Given the description of an element on the screen output the (x, y) to click on. 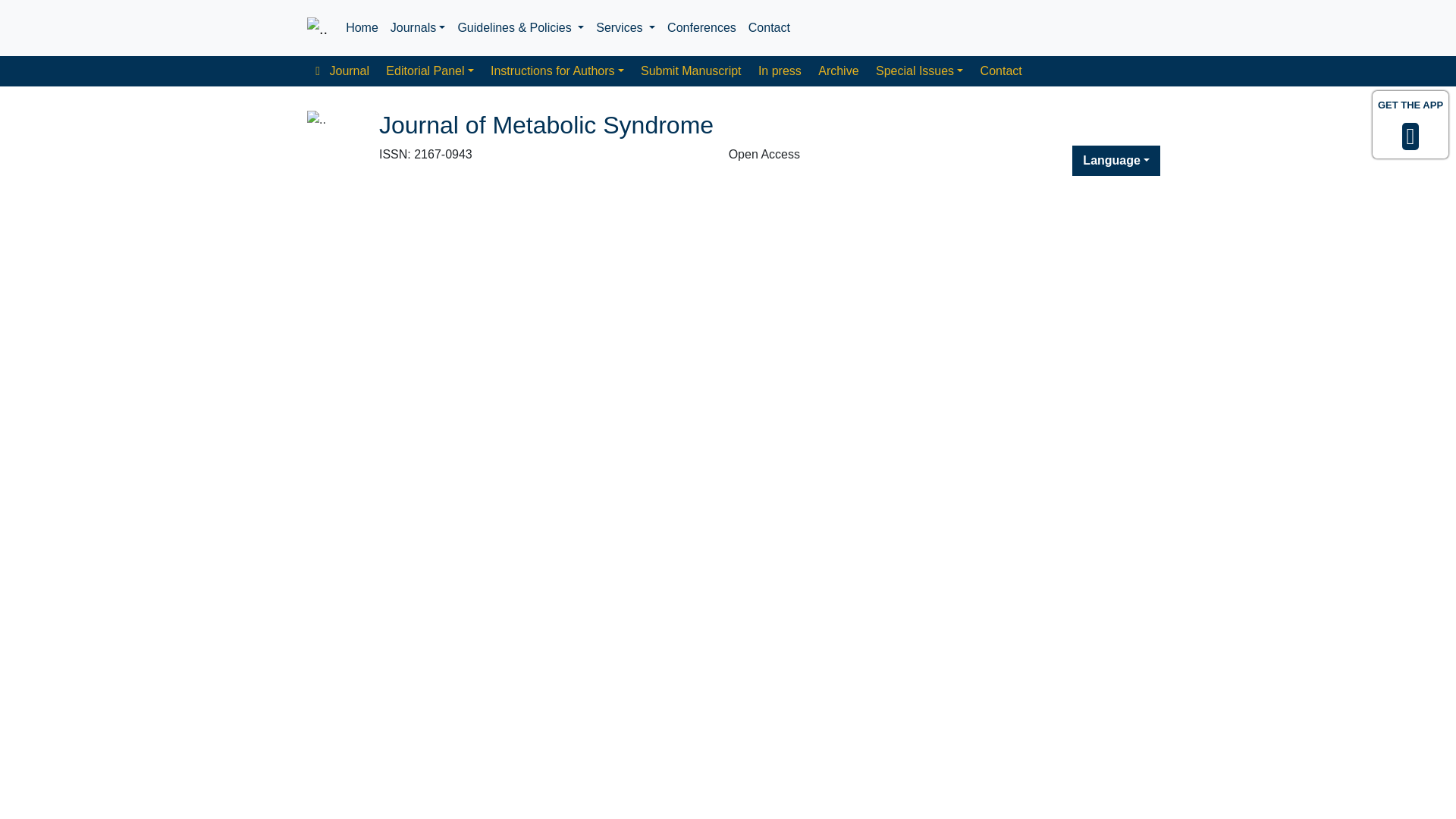
Journal (342, 71)
Contact (769, 28)
Journal Home (342, 71)
Archive (838, 71)
Click here (361, 28)
Special Issues (919, 71)
Contact (769, 28)
Journals (417, 28)
Home (361, 28)
Contact (1000, 71)
